Given the description of an element on the screen output the (x, y) to click on. 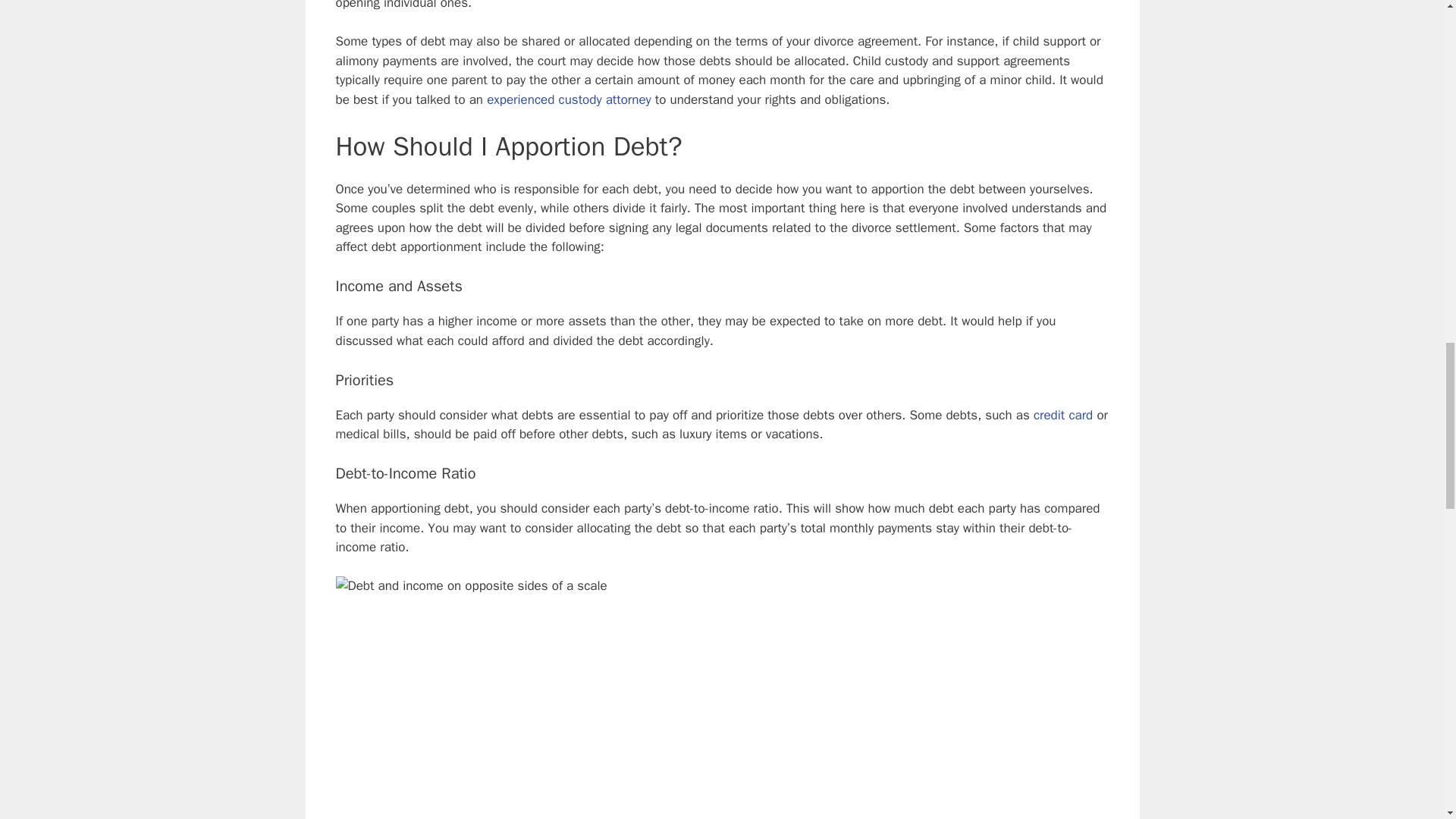
experienced custody attorney (568, 99)
credit card (1063, 415)
